Given the description of an element on the screen output the (x, y) to click on. 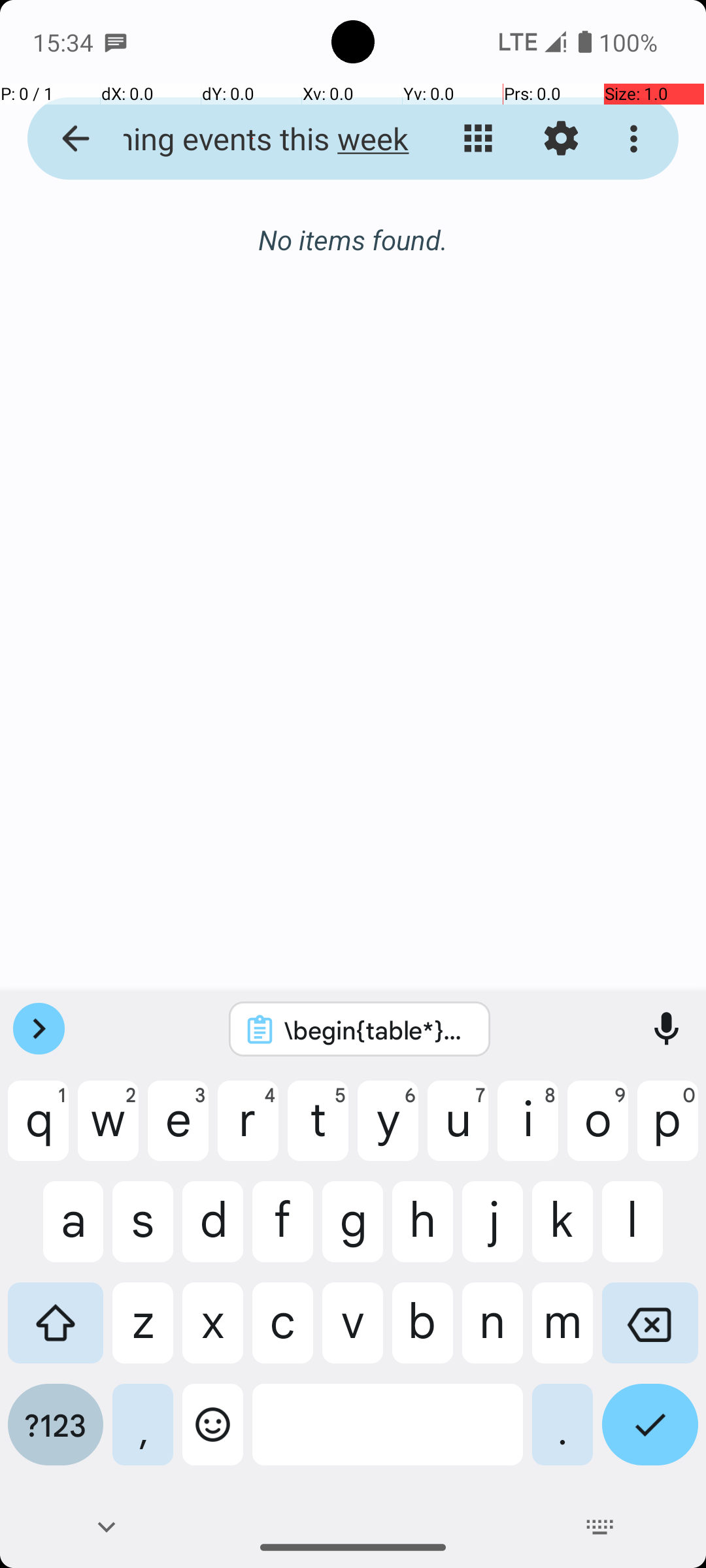
upcoming events this week Element type: android.widget.EditText (252, 138)
\begin{table*}[t!] \centering \renewcommand\arraystretch{1.1} \tabcolsep=0.05cm {\fontsize{10pt}{12pt}\selectfont \begin{tabular}{cccccccccc} \hline % \toprule          \multirow{2}{*}{LVLMs} & \multirow{2}{*}{\parbox{1.5cm}{\centering Model\\Size}}   & \multirow{2}{*}{\parbox{1.5cm}{\centering GUI\\Specific}} & \multicolumn{2}{c}{Mobile}        & \multicolumn{2}{c}{Desktop}       & \multicolumn{2}{c}{Web}           & \multirow{2}{*}{Average} \\ \cline{4-9}          &    &                               & Text            & Icon/Widget     & Text            & Icon/Widget     & Text            & Icon/Widget     &                          \\  % \midrule \hline MiniGPT-v2     & 7B   & \textcolor{darkred}{\ding{55}}                              &  8.4\%               & 6.6\%                & 6.2\%                & 2.9\%                & 6.5\%                & 3.4\%                & 5.7\%                         \\ Qwen-VL  & 9.6B   & \textcolor{darkred}{\ding{55}}                             & 9.5\%           & 4.8\%           & 5.7\%           & 5.0\%           & 3.5\%           & 2.4\%           & 5.2\%                    \\  GPT-4V   & -    & \textcolor{darkred}{\ding{55}}     & 22.6\%    & 24.5\%    & 20.2\%    & 11.8\%    &9.2\%  & 8.8\%     & 16.2\% \\ \hline Fuyu     & 8B   & \textcolor{darkgreen}{\ding{51}}                               & 41.0\%          & 1.3\%           & 33.0\%          & 3.6\%           & 33.9\%          & 4.4\%           & 19.5\%                   \\ CogAgent & 18B   & \textcolor{darkgreen}{\ding{51}}                               & 67.0\%          & 24.0\%          & \textbf{74.2\%} & 20.0\%          & \textbf{70.4\%} & 28.6\% & 47.4\%                   \\ \seek & 9.6B   & \textcolor{darkgreen}{\ding{51}}                              & \textbf{78.0\%} & \textbf{52.0\%} & 72.2\%          & \textbf{30.0\%} & 55.7\%          & \textbf{32.5\%} & \textbf{53.4\%}          \\  \hline % \bottomrule \end{tabular} } \caption{Results of different LVLMs on \seesp. The best results in each column are highlighted in \textbf{bold}. Benefiting from efficient GUI grounding pre-training, \seek significantly enhanced LVLMs' ability to locate GUI elements following instructions, and surpassed the strong baseline CogAgent with a smaller model size.} \label{tab:screenspot} \vspace{-1.0em} \end{table*} Element type: android.widget.TextView (376, 1029)
